Given the description of an element on the screen output the (x, y) to click on. 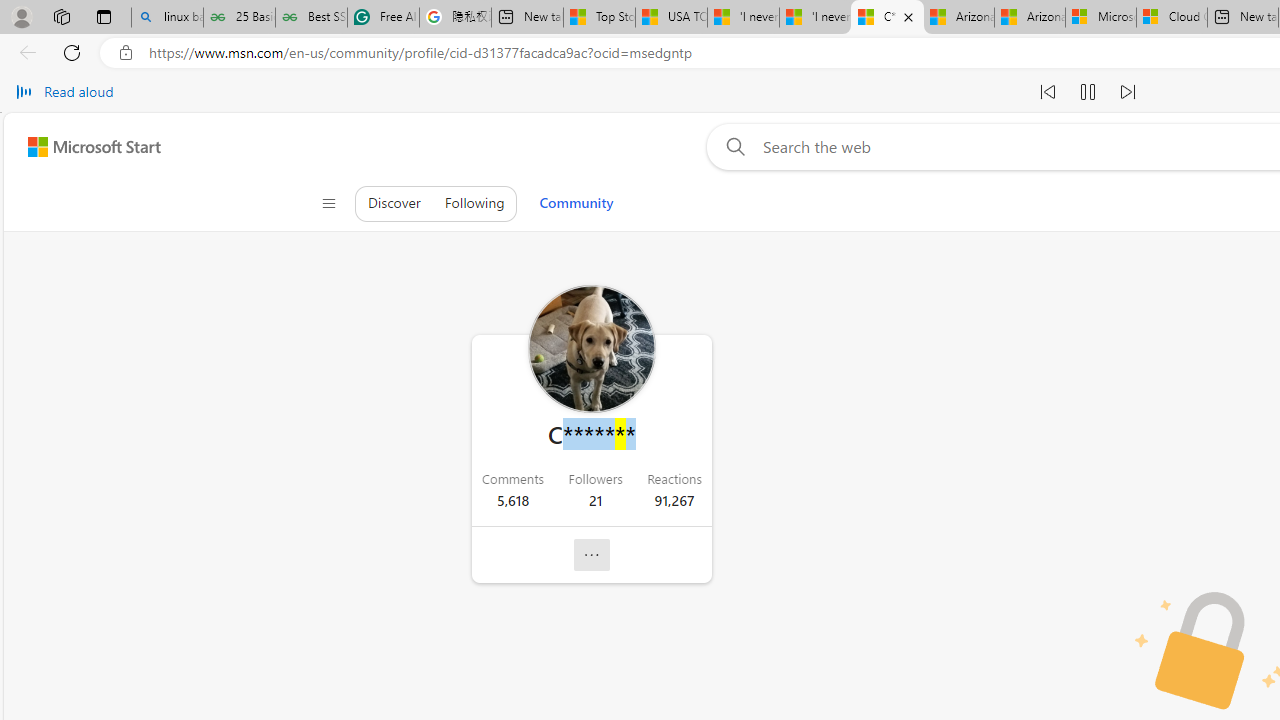
USA TODAY - MSN (671, 17)
C******* | Trusted Community Engagement and Contributions (887, 17)
25 Basic Linux Commands For Beginners - GeeksforGeeks (239, 17)
Profile Picture (591, 349)
Cloud Computing Services | Microsoft Azure (1171, 17)
Community (576, 203)
